Given the description of an element on the screen output the (x, y) to click on. 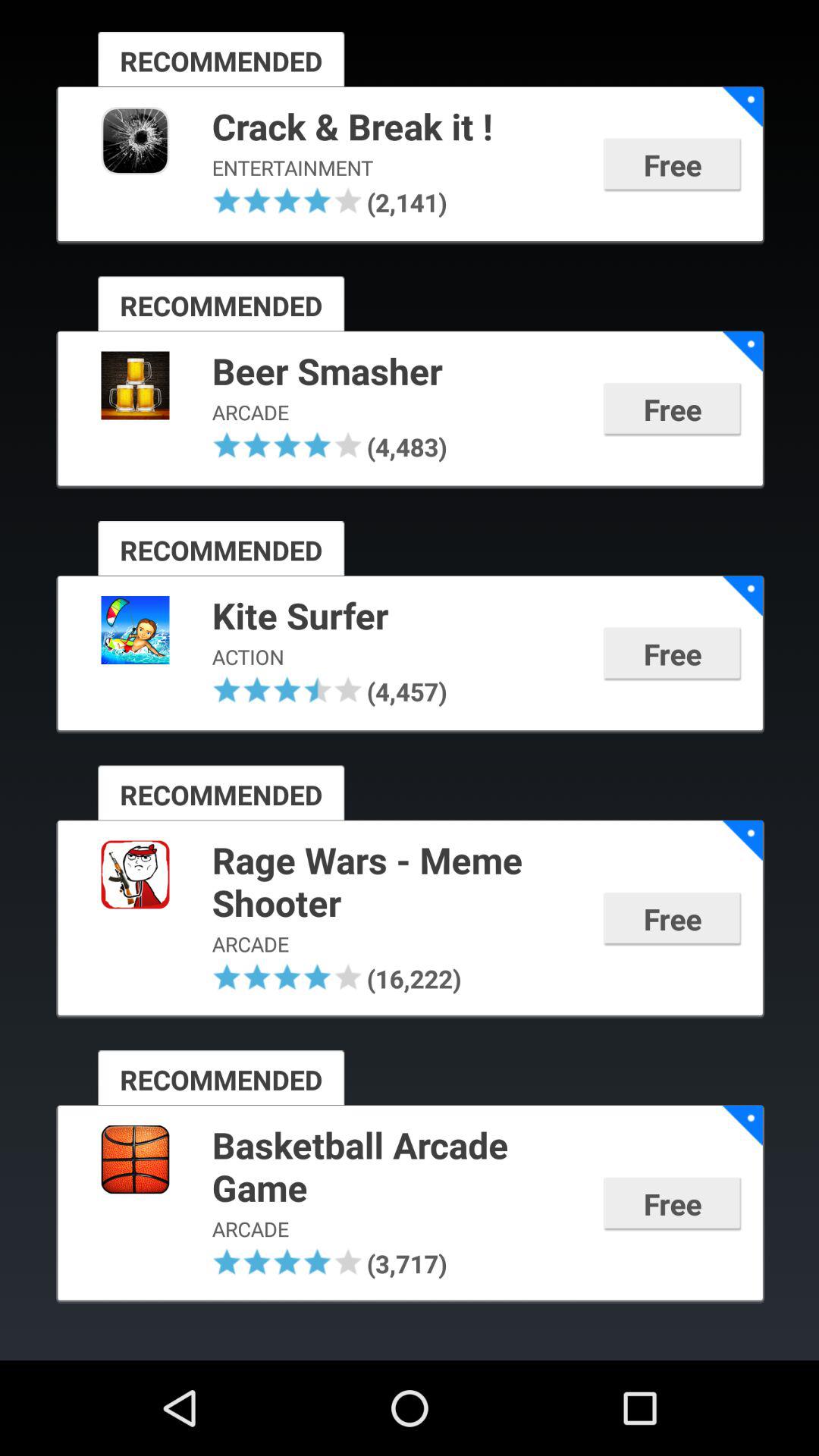
turn on app above the arcade icon (397, 1167)
